Given the description of an element on the screen output the (x, y) to click on. 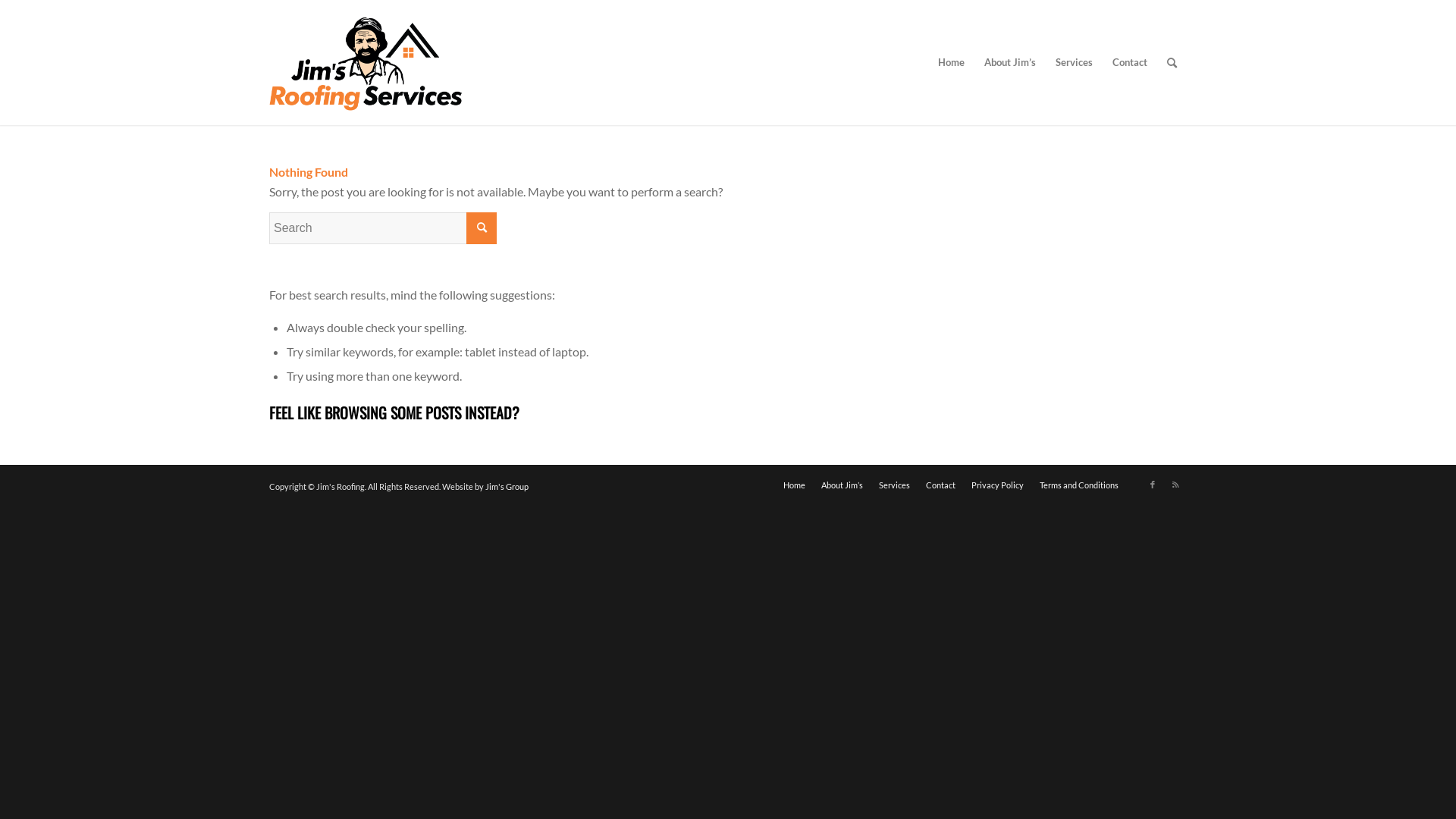
Rss Element type: hover (1175, 484)
jimsroofinglogo-1-web Element type: hover (366, 62)
Services Element type: text (1073, 62)
Contact Element type: text (940, 484)
Services Element type: text (894, 484)
Contact Element type: text (1129, 62)
Home Element type: text (794, 484)
Jim's Group Element type: text (506, 486)
Privacy Policy Element type: text (997, 484)
Terms and Conditions Element type: text (1078, 484)
Home Element type: text (951, 62)
Facebook Element type: hover (1152, 484)
